Given the description of an element on the screen output the (x, y) to click on. 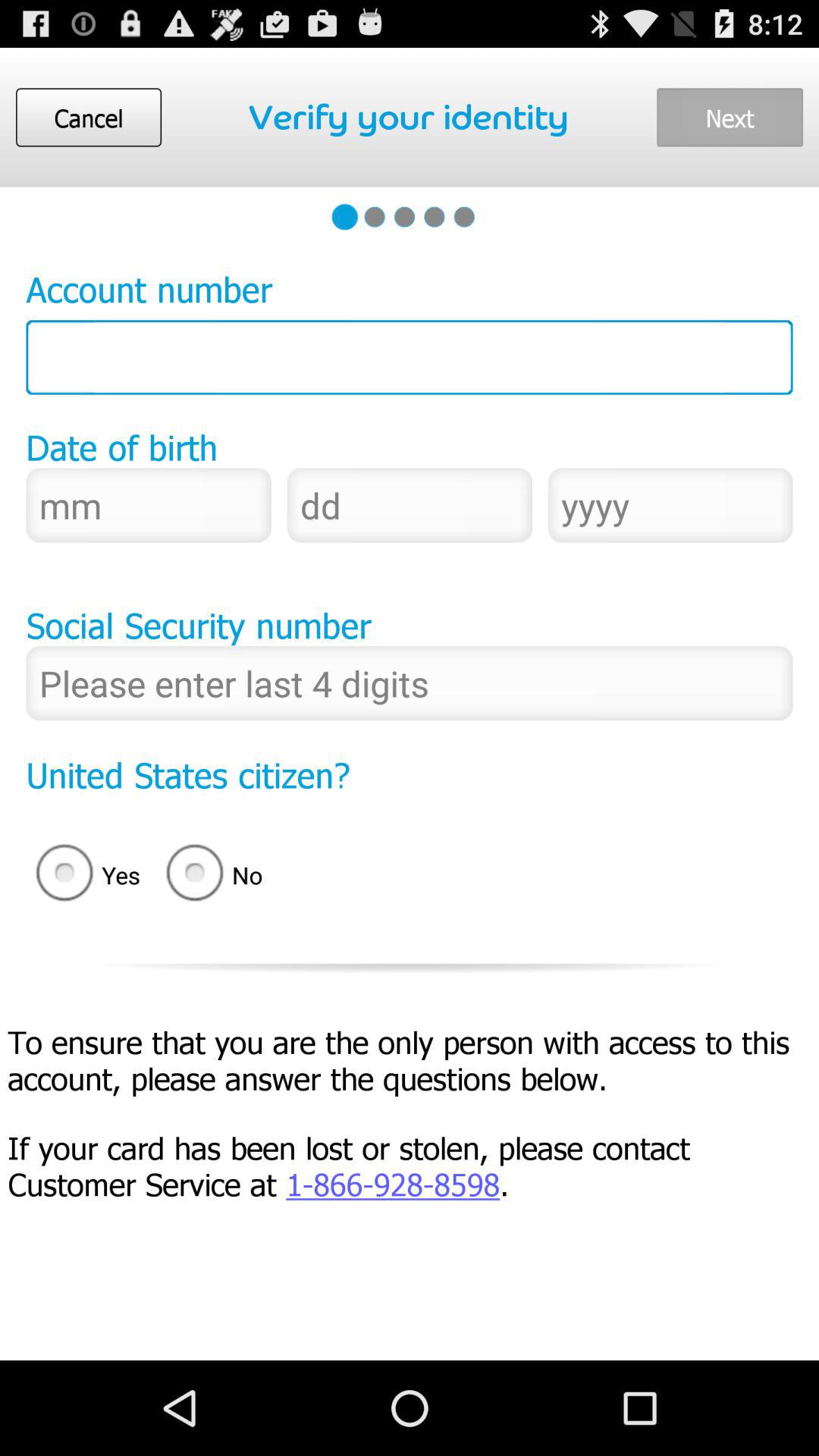
swipe to if your card (413, 1165)
